Given the description of an element on the screen output the (x, y) to click on. 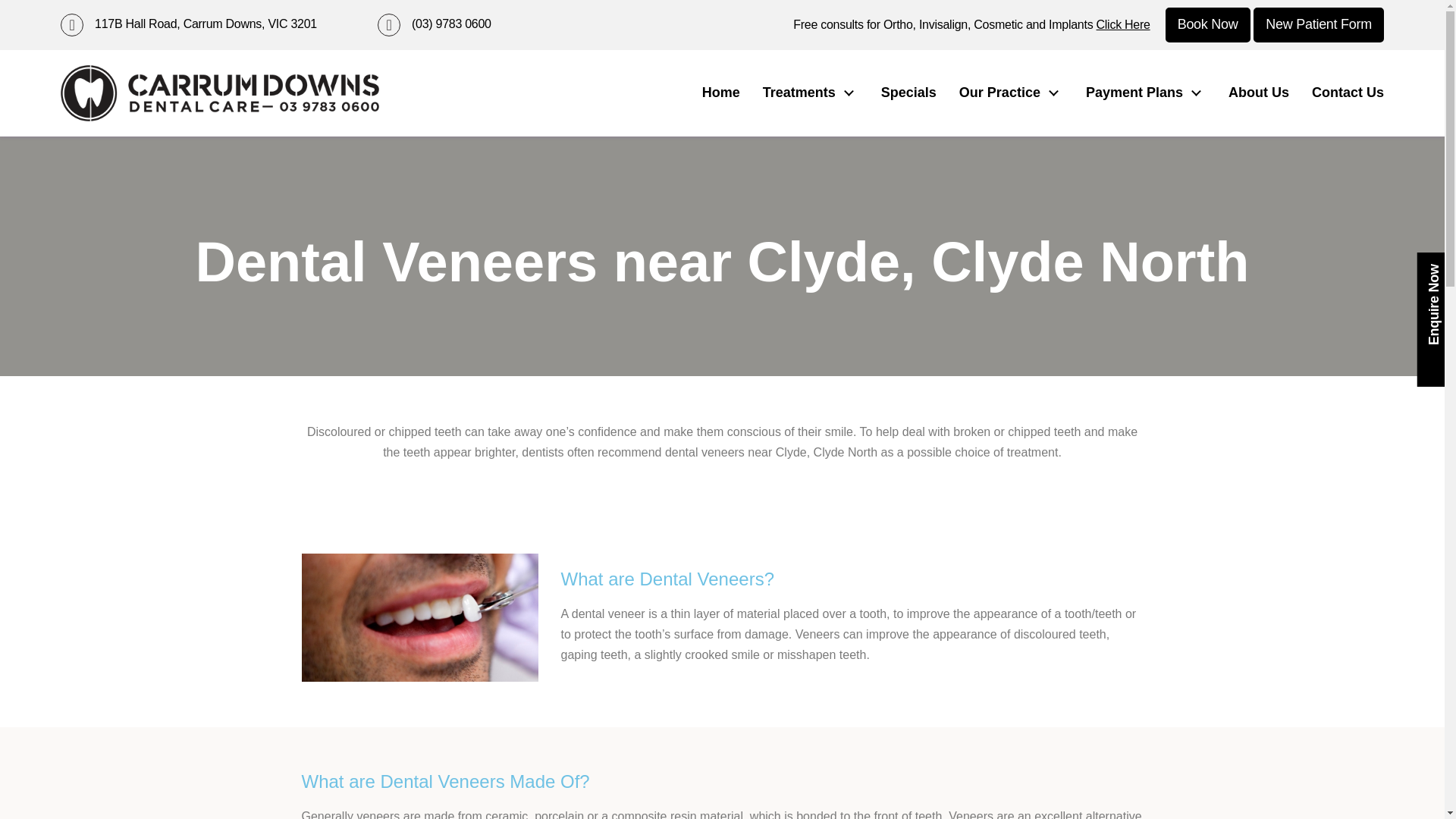
About Us (1258, 92)
New Patient Form (1318, 24)
Our Practice (1010, 92)
Specials (908, 92)
Home (720, 92)
Treatments (810, 92)
Click Here (1123, 24)
Book Now (1208, 24)
Payment Plans (1145, 92)
